Given the description of an element on the screen output the (x, y) to click on. 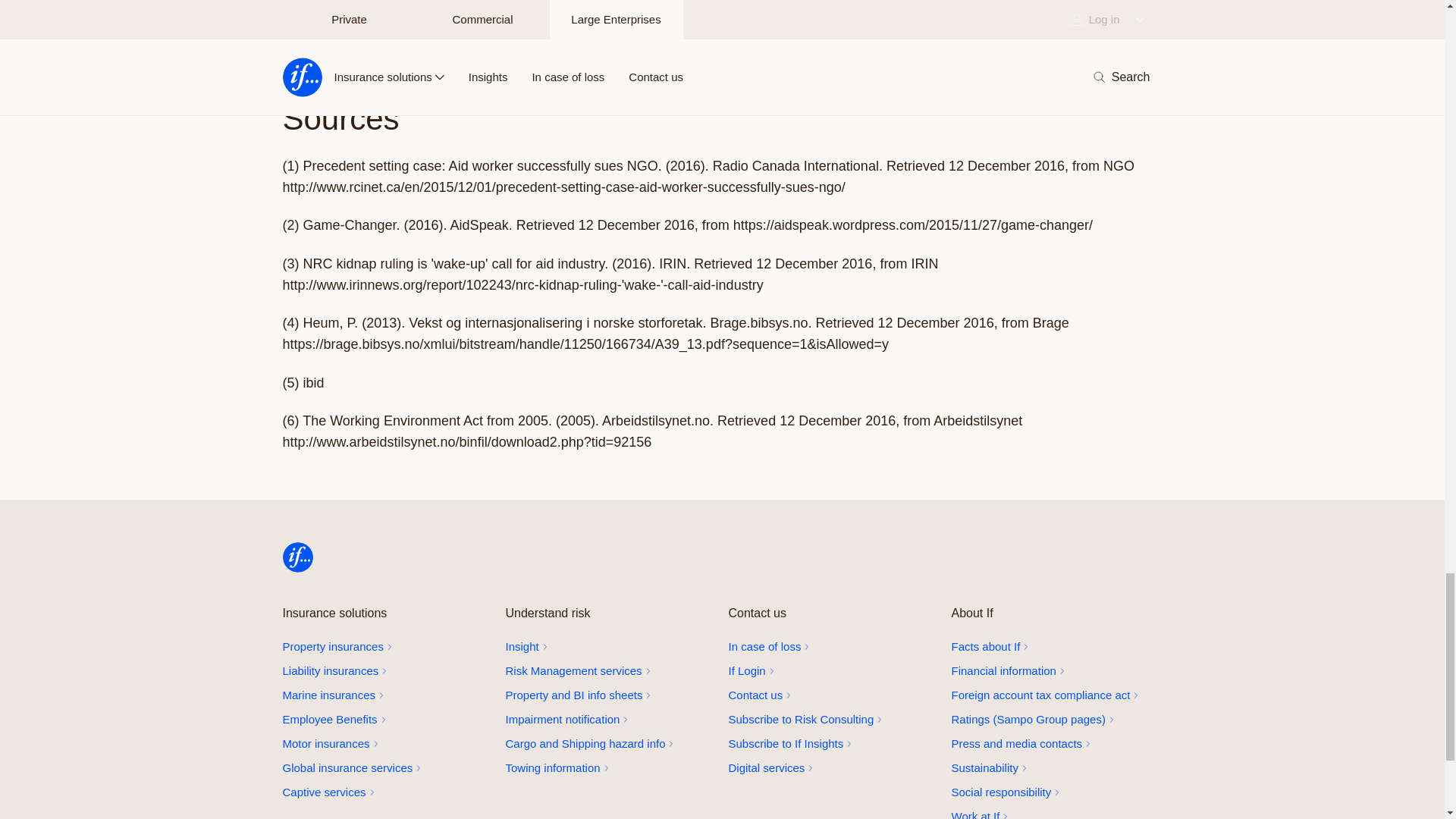
Subsribe to Risk Consulting (833, 719)
report claim (833, 646)
Subsribe to If Insights (833, 743)
online service (833, 670)
